Given the description of an element on the screen output the (x, y) to click on. 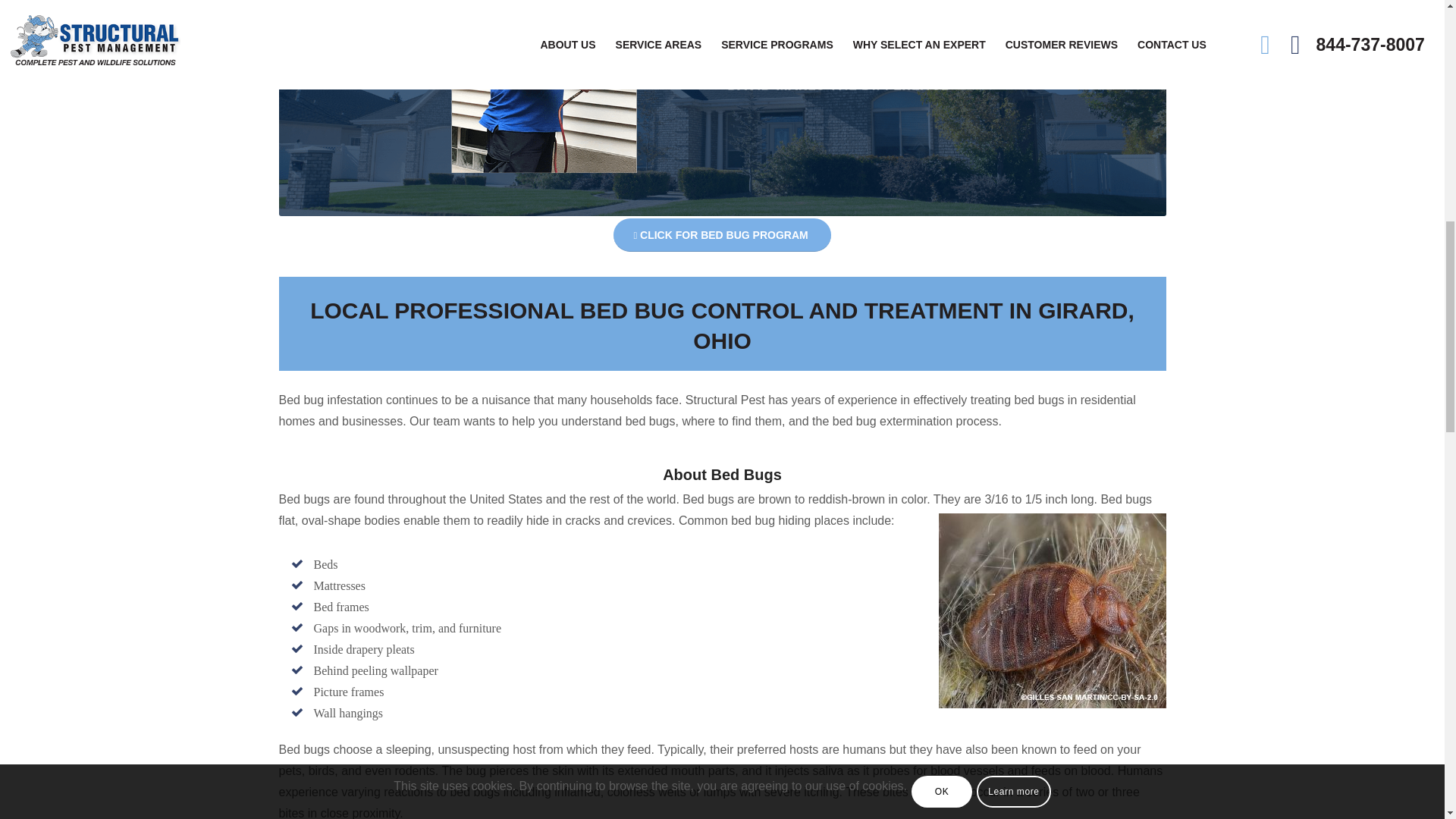
CLICK FOR BED BUG PROGRAM (720, 235)
About Bed Bugs (721, 474)
